Given the description of an element on the screen output the (x, y) to click on. 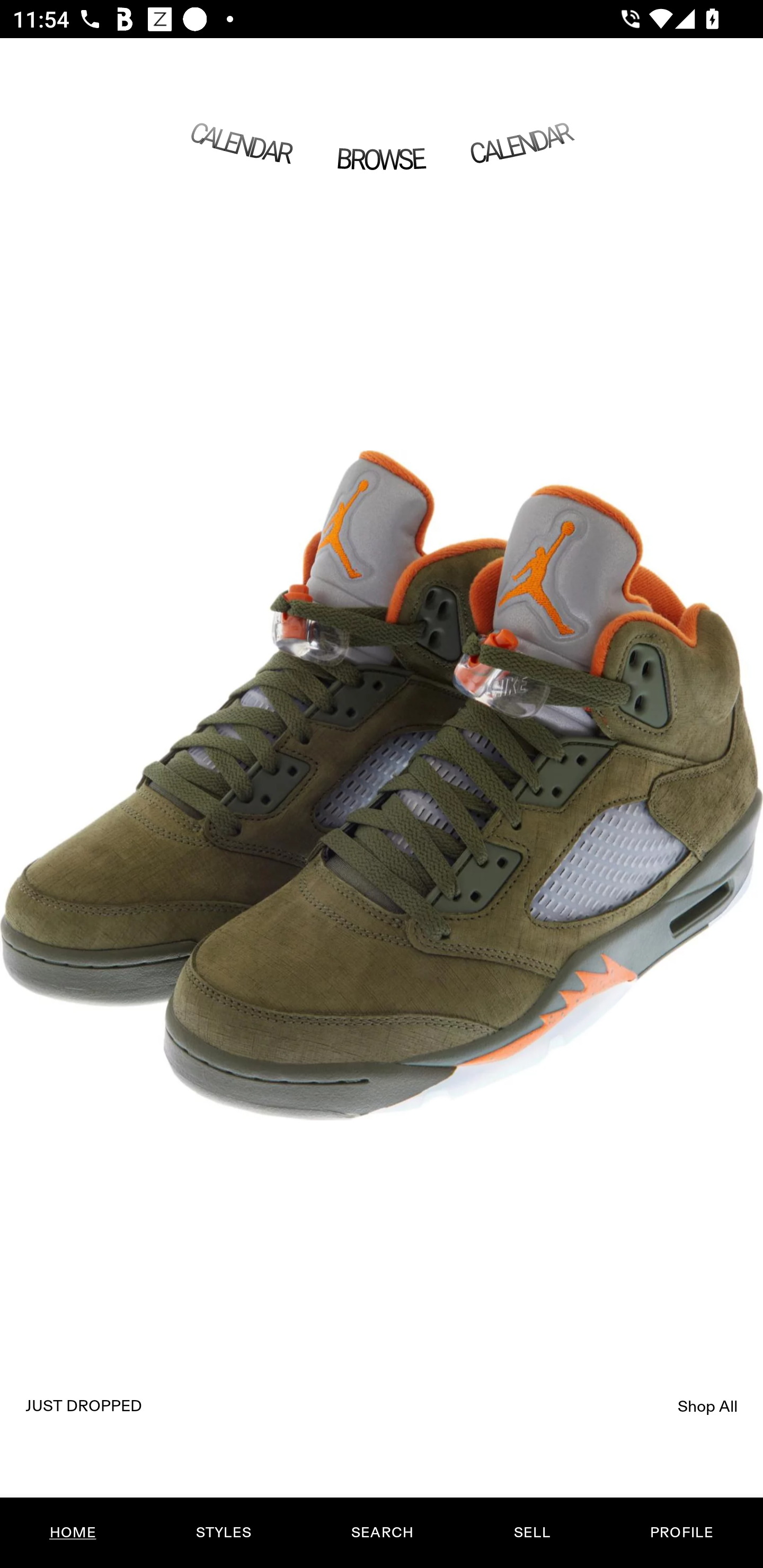
Shop All (707, 1406)
HOME (72, 1532)
STYLES (222, 1532)
SEARCH (381, 1532)
SELL (531, 1532)
PROFILE (681, 1532)
